Given the description of an element on the screen output the (x, y) to click on. 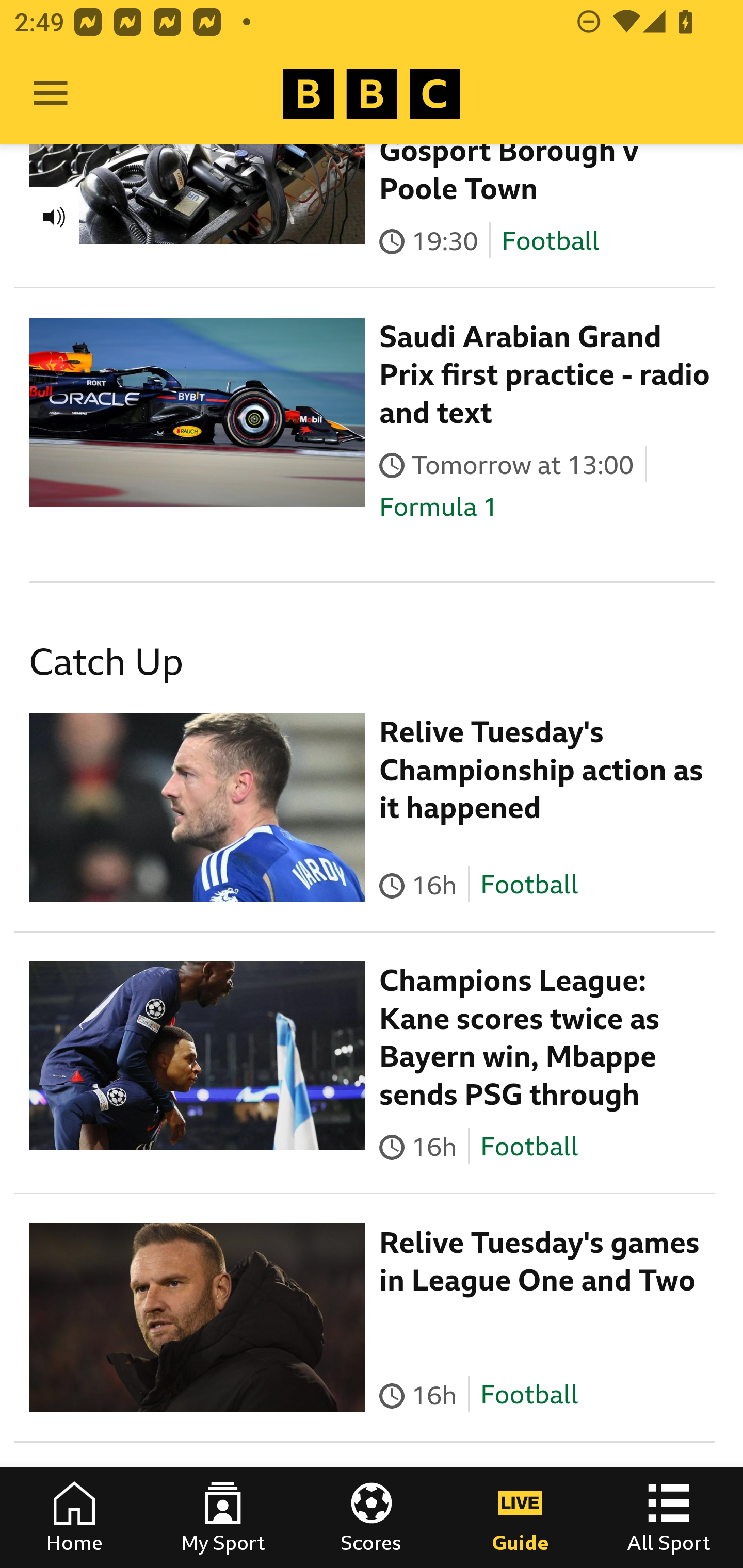
Open Menu (50, 93)
Football (550, 241)
Formula 1 (438, 506)
Football (528, 885)
Football (528, 1145)
Relive Tuesday's games in League One and Two (539, 1262)
Football (528, 1395)
Home (74, 1517)
My Sport (222, 1517)
Scores (371, 1517)
All Sport (668, 1517)
